Given the description of an element on the screen output the (x, y) to click on. 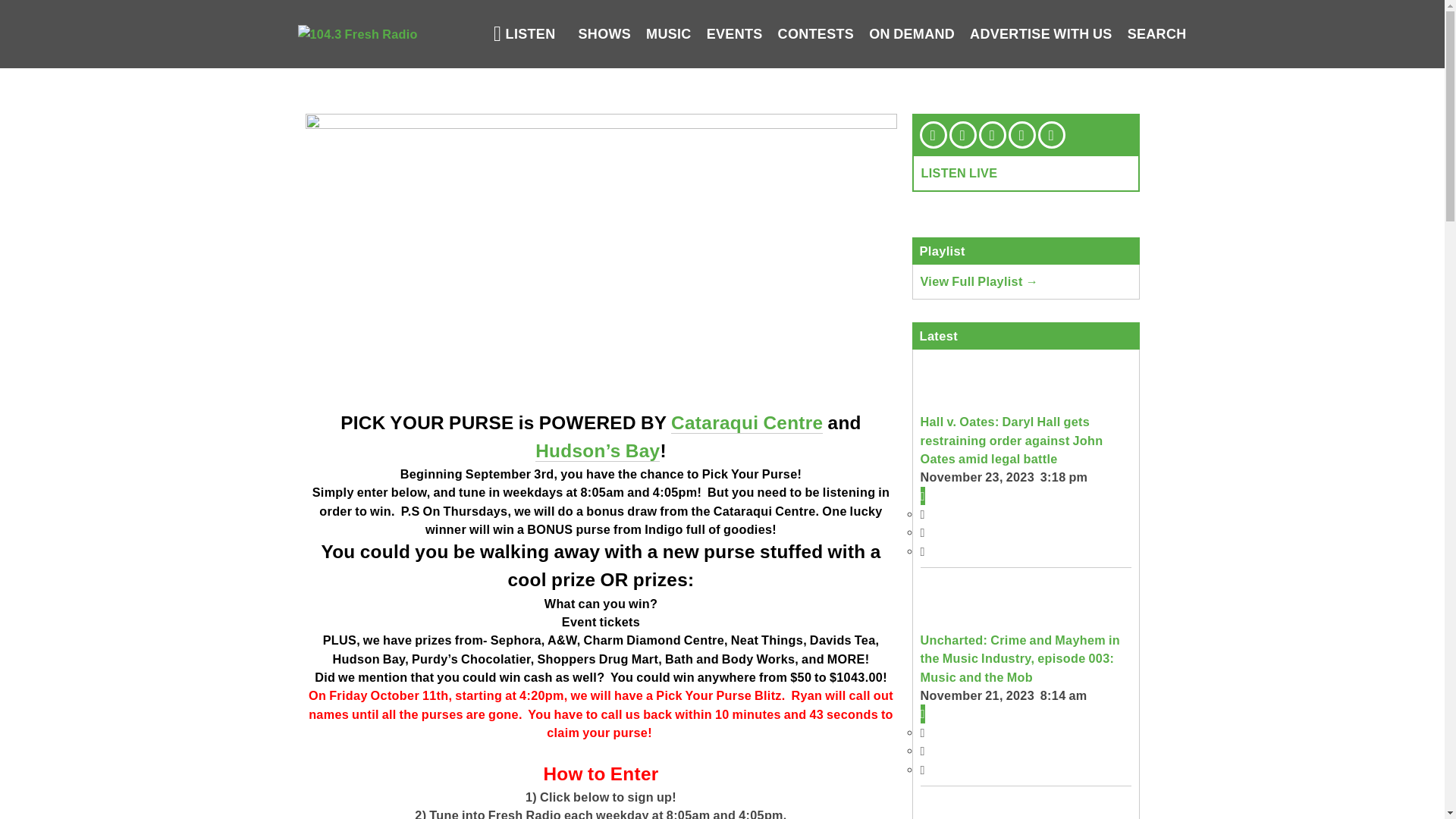
EVENTS Element type: text (734, 34)
SHOWS Element type: text (604, 34)
Cataraqui Centre Element type: text (746, 422)
LISTEN Element type: text (524, 34)
SEARCH Element type: text (1157, 34)
LISTEN LIVE Element type: text (958, 172)
ADVERTISE WITH US Element type: text (1041, 34)
MUSIC Element type: text (668, 34)
ON DEMAND Element type: text (911, 34)
CONTESTS Element type: text (816, 34)
